Given the description of an element on the screen output the (x, y) to click on. 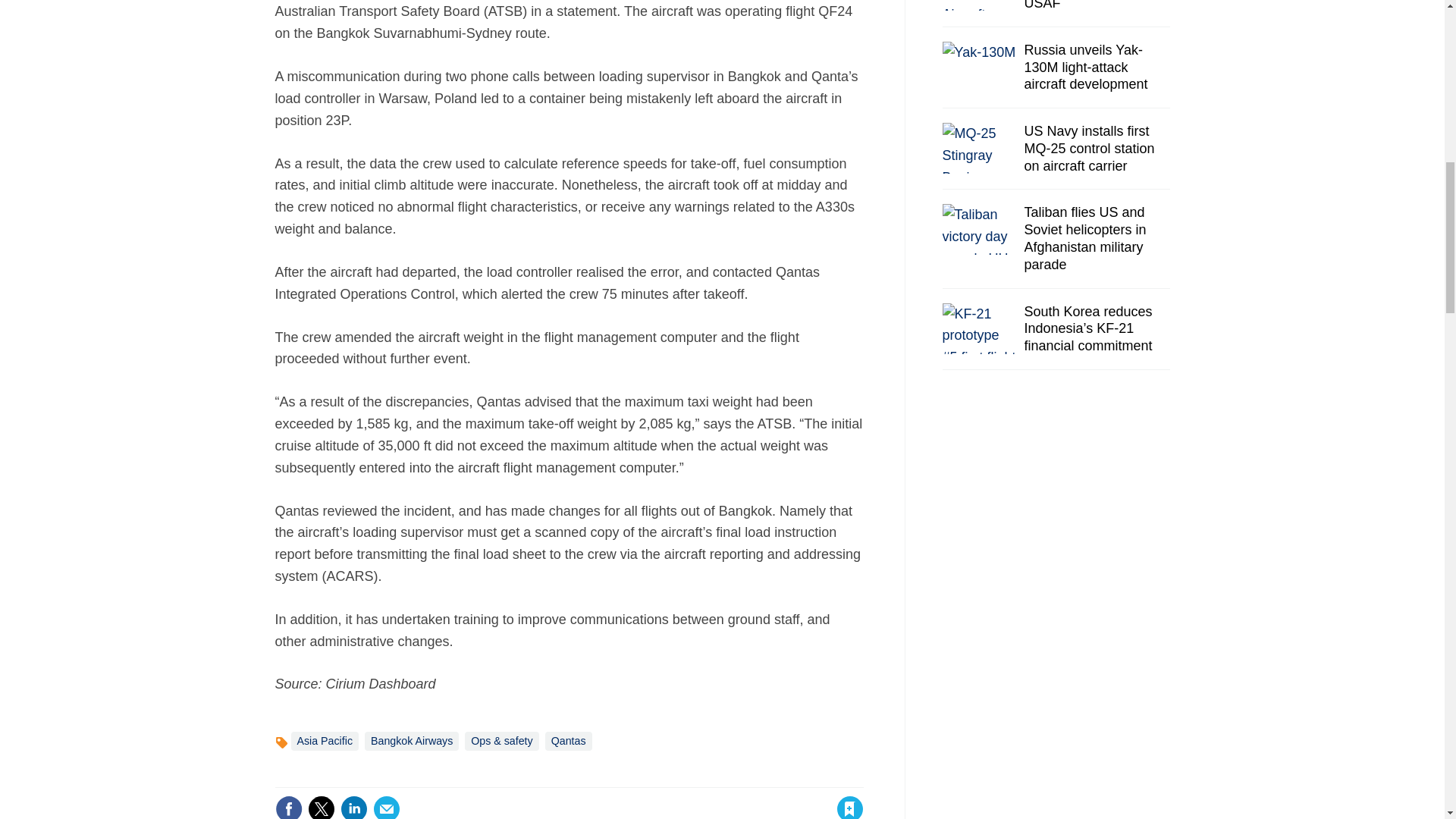
Share this on Twitter (320, 807)
Share this on Linked in (352, 807)
Email this article (386, 807)
Share this on Facebook (288, 807)
